Given the description of an element on the screen output the (x, y) to click on. 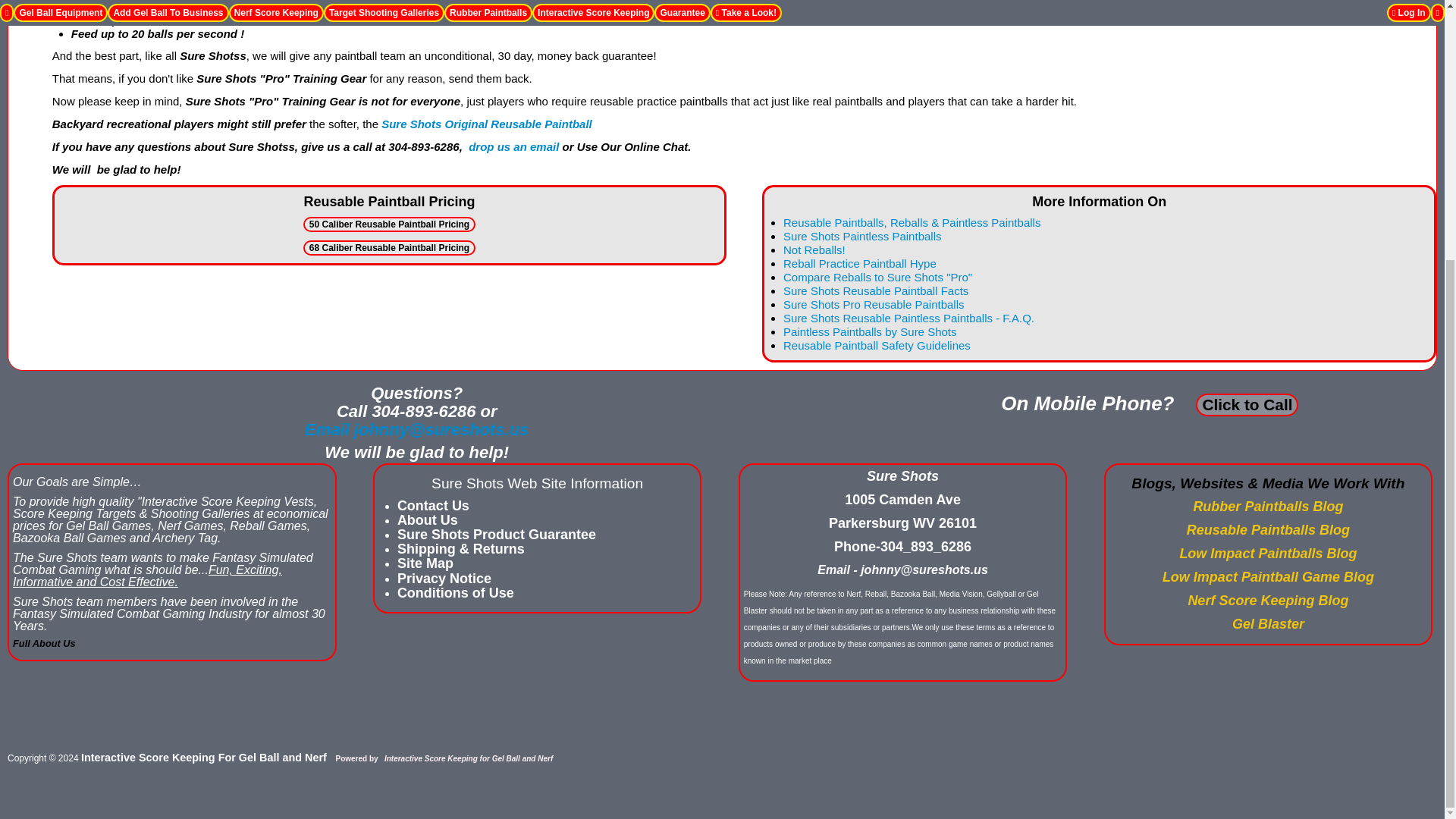
Sure Shots Original Reusable Paintball (486, 123)
50 Caliber Reusable Paintball Pricing (389, 224)
Click to Call (1246, 404)
68 Caliber Reusable Paintball Pricing (389, 247)
Contact Sure Shots (416, 429)
Contact Sure Shots Now! (513, 146)
